Given the description of an element on the screen output the (x, y) to click on. 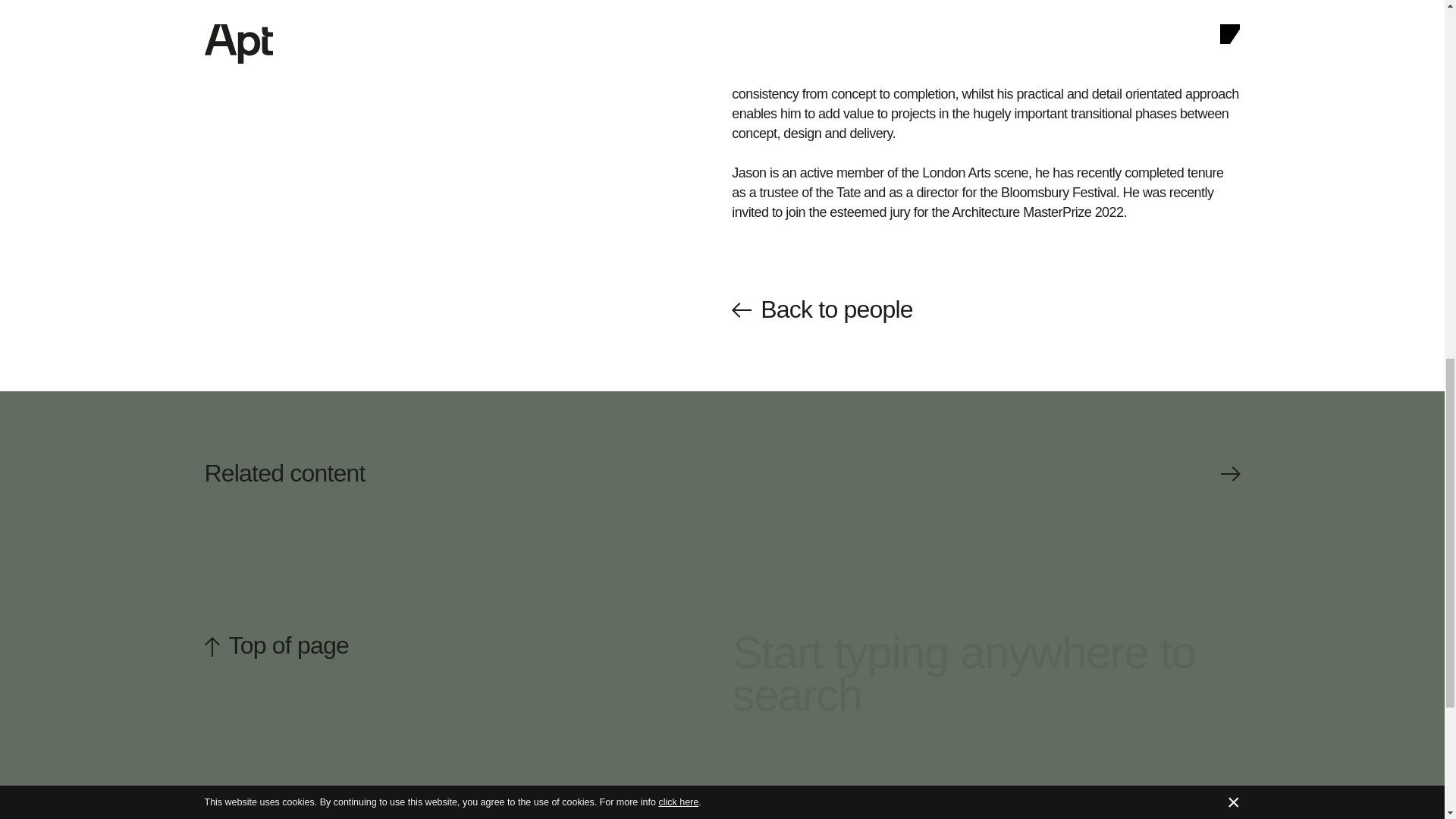
Back to people (986, 308)
Top of page (459, 645)
